Given the description of an element on the screen output the (x, y) to click on. 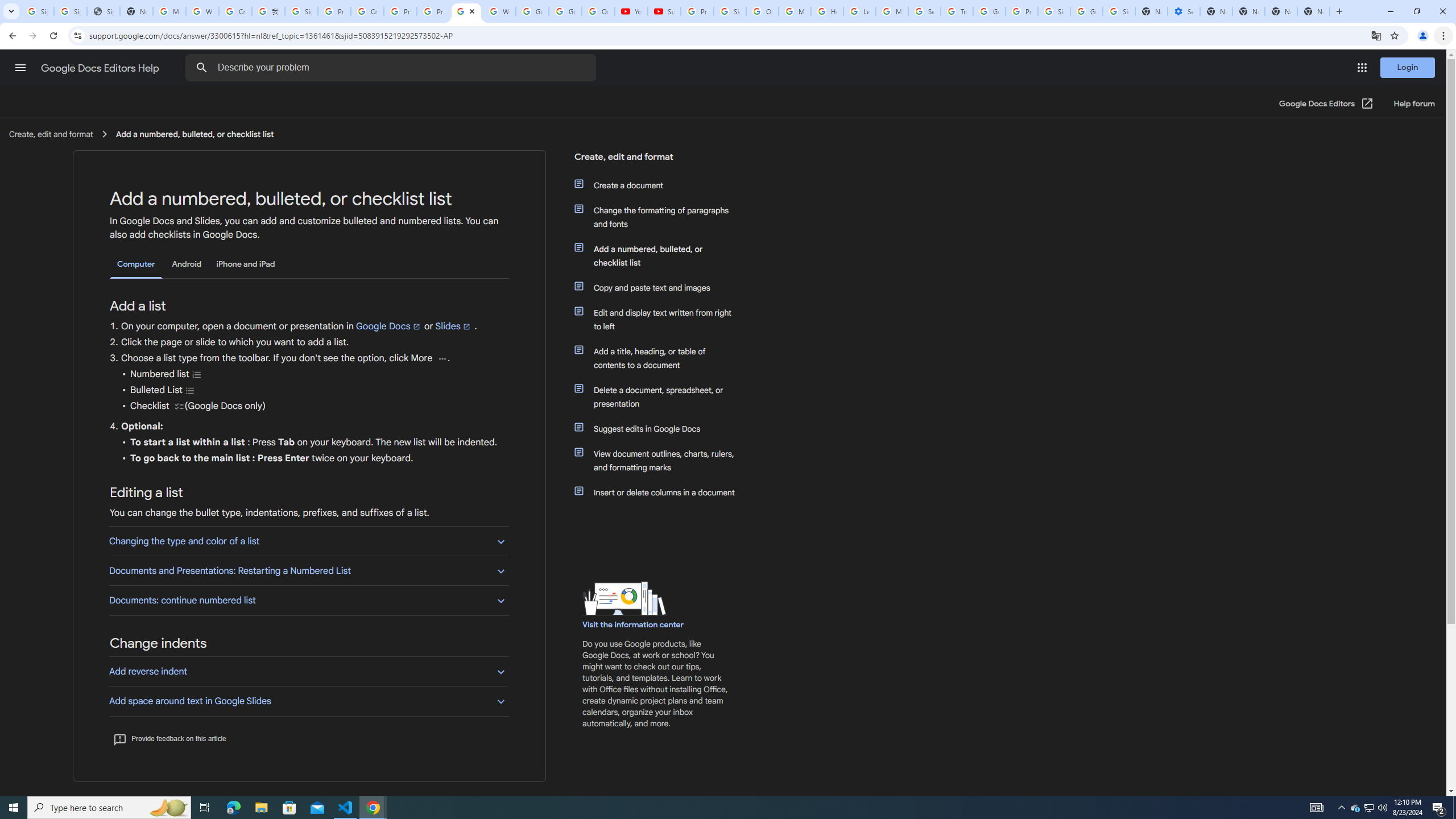
Search our Doodle Library Collection - Google Doodles (924, 11)
Create, edit and format (656, 160)
Sign In - USA TODAY (103, 11)
Help forum (1414, 103)
Slides (453, 326)
Search the Help Center (201, 67)
Who is my administrator? - Google Account Help (202, 11)
Android (186, 263)
Create your Google Account (367, 11)
Add a title, heading, or table of contents to a document (661, 358)
Documents: continue numbered list (308, 600)
